Given the description of an element on the screen output the (x, y) to click on. 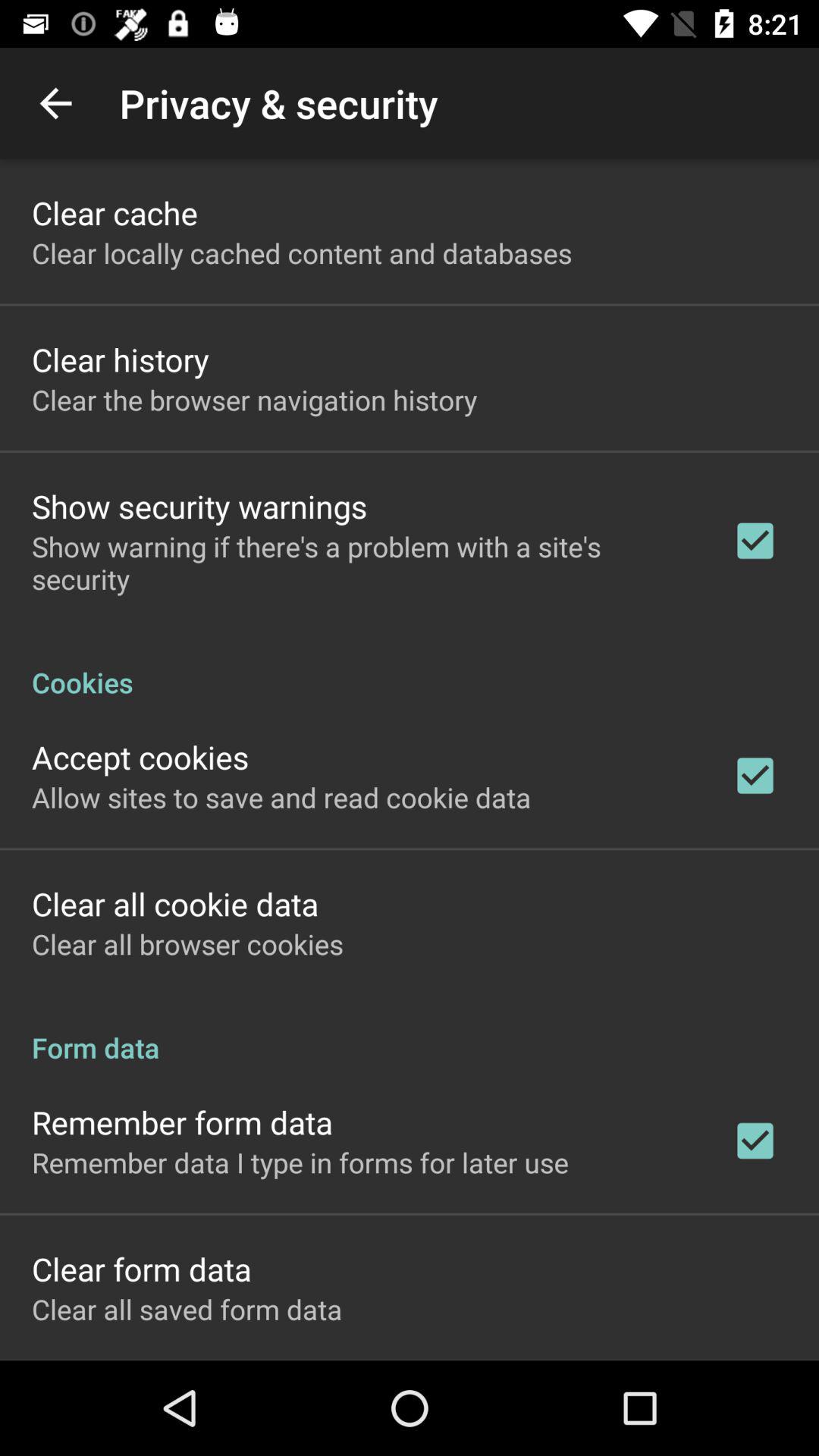
choose item above cookies icon (361, 562)
